Given the description of an element on the screen output the (x, y) to click on. 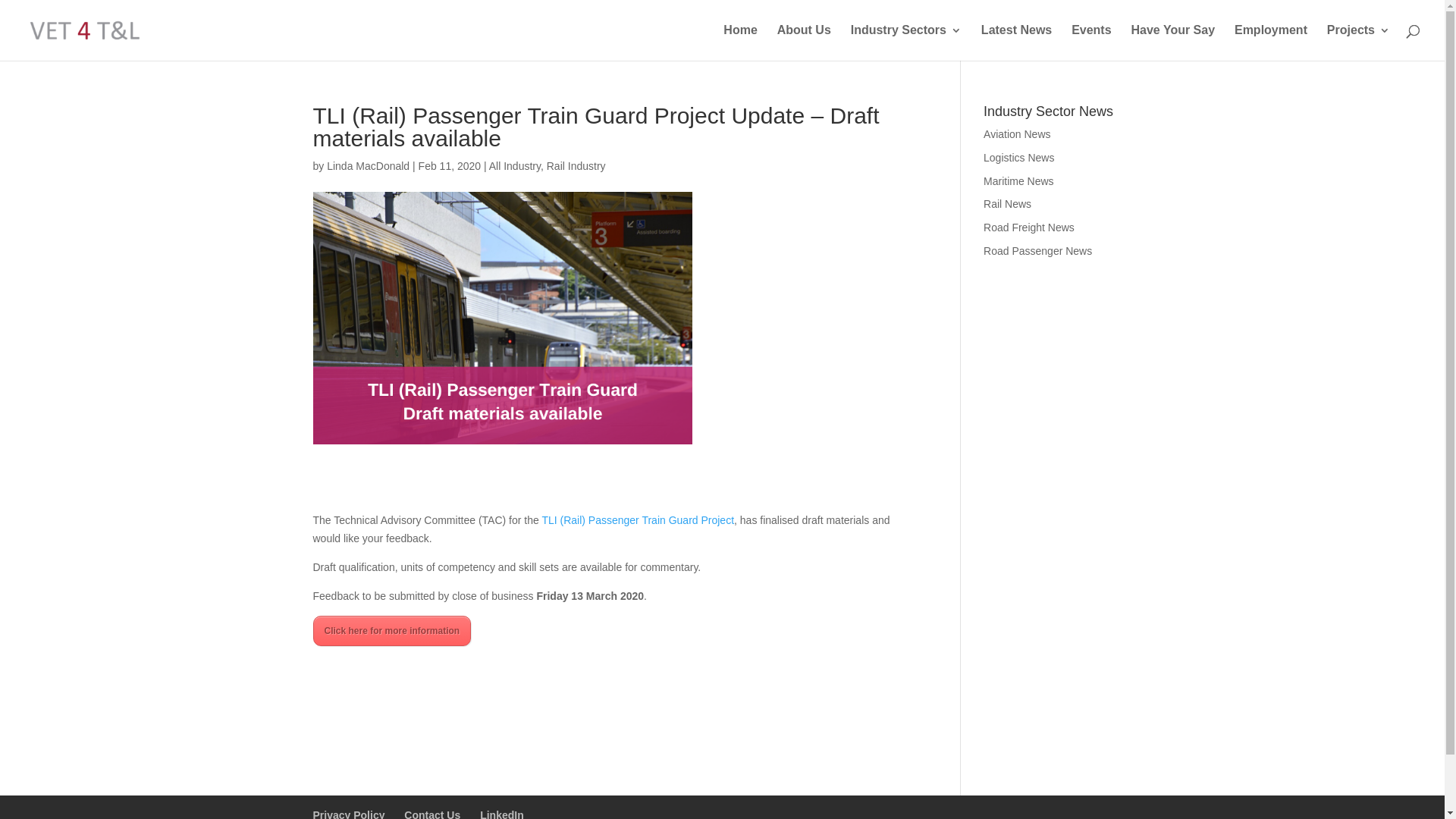
Linda MacDonald Element type: text (367, 166)
Maritime News Element type: text (1018, 181)
Rail News Element type: text (1007, 203)
Latest News Element type: text (1016, 42)
Road Freight News Element type: text (1028, 227)
Industry Sectors Element type: text (905, 42)
About Us Element type: text (804, 42)
Employment Element type: text (1270, 42)
Events Element type: text (1090, 42)
Click here for more information Element type: text (391, 630)
Have Your Say Element type: text (1172, 42)
Rail Industry Element type: text (575, 166)
Logistics News Element type: text (1018, 157)
All Industry Element type: text (514, 166)
Home Element type: text (739, 42)
Aviation News Element type: text (1016, 134)
Road Passenger News Element type: text (1037, 250)
Projects Element type: text (1358, 42)
TLI (Rail) Passenger Train Guard Project Element type: text (637, 520)
